Given the description of an element on the screen output the (x, y) to click on. 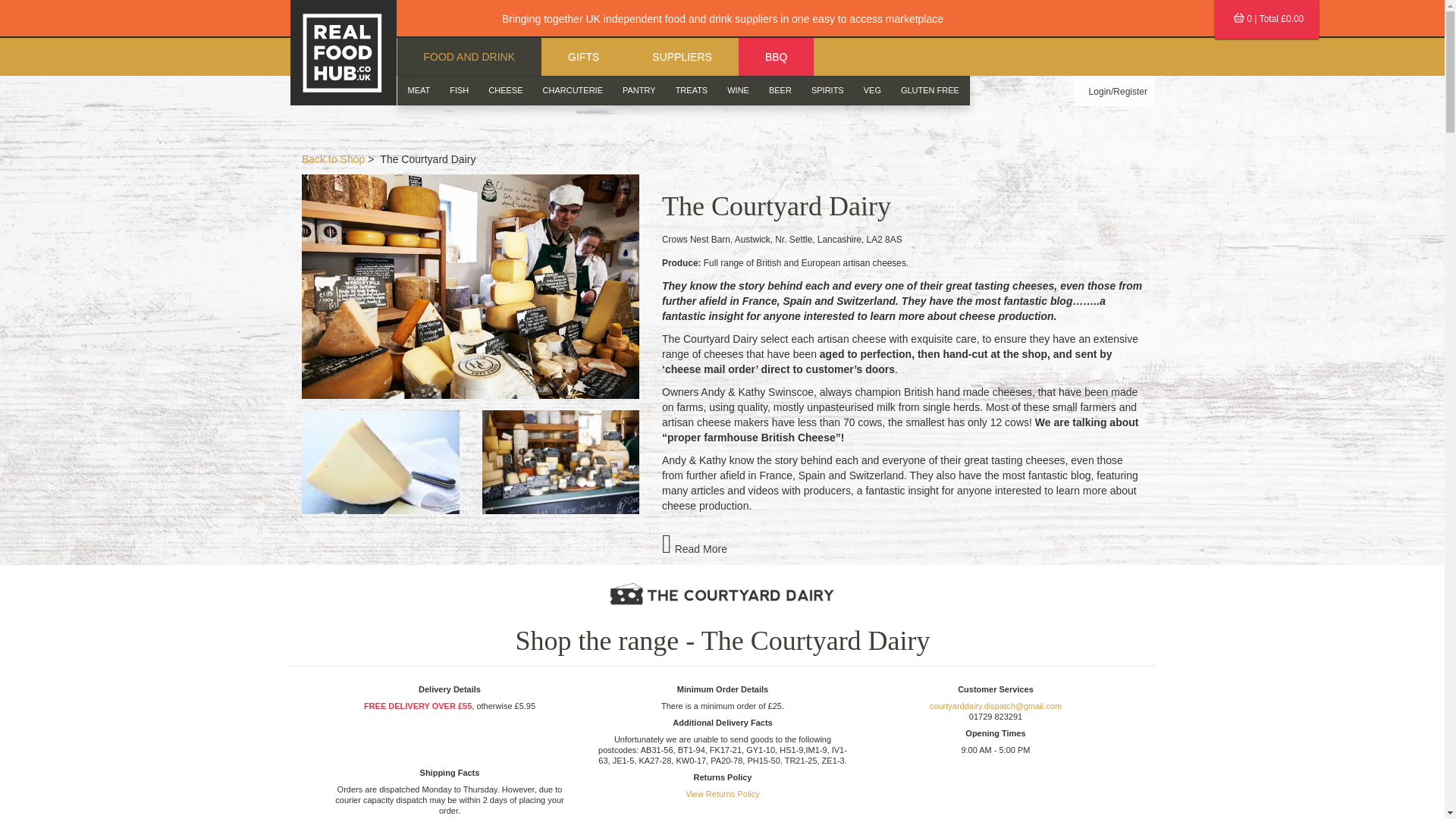
BEER (780, 90)
CHARCUTERIE (572, 90)
PANTRY (638, 90)
FOOD AND DRINK (469, 56)
TREATS (691, 90)
CHEESE (505, 90)
SPIRITS (827, 90)
GLUTEN FREE (930, 90)
VEG (872, 90)
FISH (459, 90)
